Given the description of an element on the screen output the (x, y) to click on. 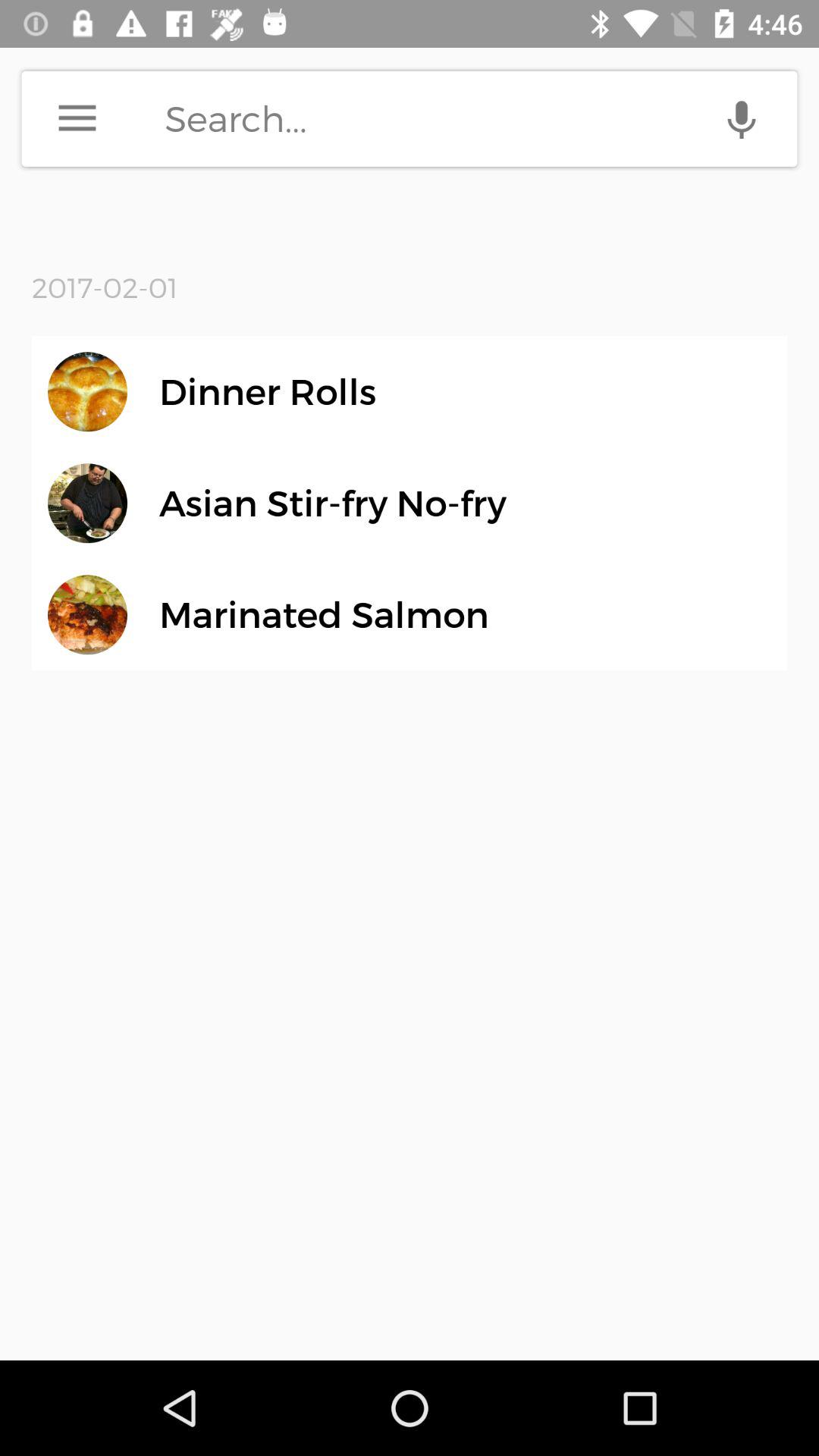
click the voice search option (741, 118)
